Given the description of an element on the screen output the (x, y) to click on. 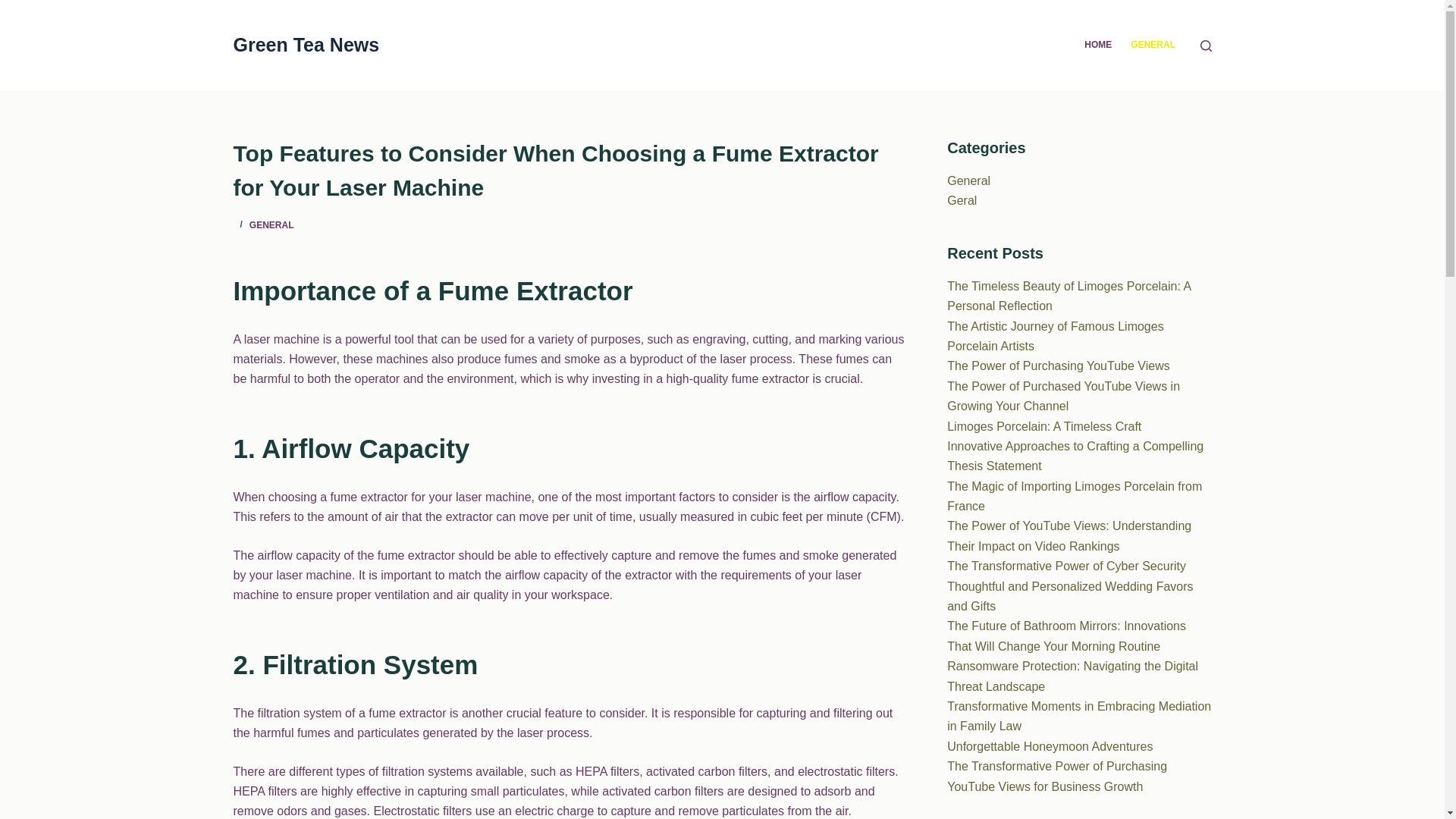
The Artistic Journey of Famous Limoges Porcelain Artists (1055, 336)
Geral (961, 200)
The Magic of Importing Limoges Porcelain from France (1074, 495)
Unforgettable Honeymoon Adventures (1050, 746)
Green Tea News (306, 44)
GENERAL (271, 225)
General (968, 180)
Skip to content (15, 7)
Thoughtful and Personalized Wedding Favors and Gifts (1069, 595)
